Given the description of an element on the screen output the (x, y) to click on. 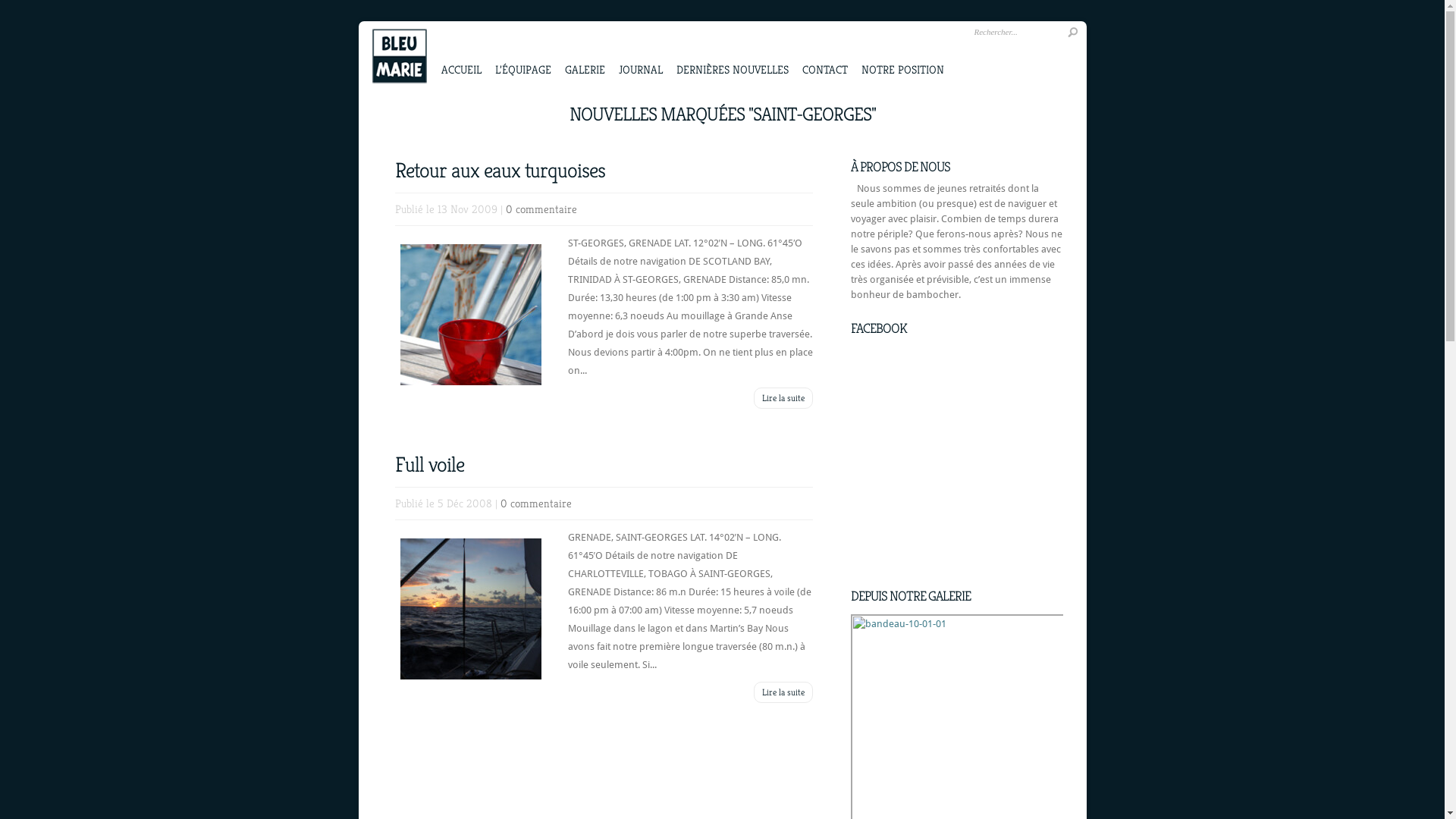
NOTRE POSITION Element type: text (902, 52)
Lire la suite Element type: text (782, 691)
CONTACT Element type: text (824, 52)
Full voile Element type: text (428, 464)
Lire la suite Element type: text (782, 397)
Retour aux eaux turquoises Element type: text (499, 169)
0 commentaire Element type: text (535, 502)
ACCUEIL Element type: text (461, 52)
0 commentaire Element type: text (540, 208)
JOURNAL Element type: text (640, 52)
GALERIE Element type: text (584, 52)
